Given the description of an element on the screen output the (x, y) to click on. 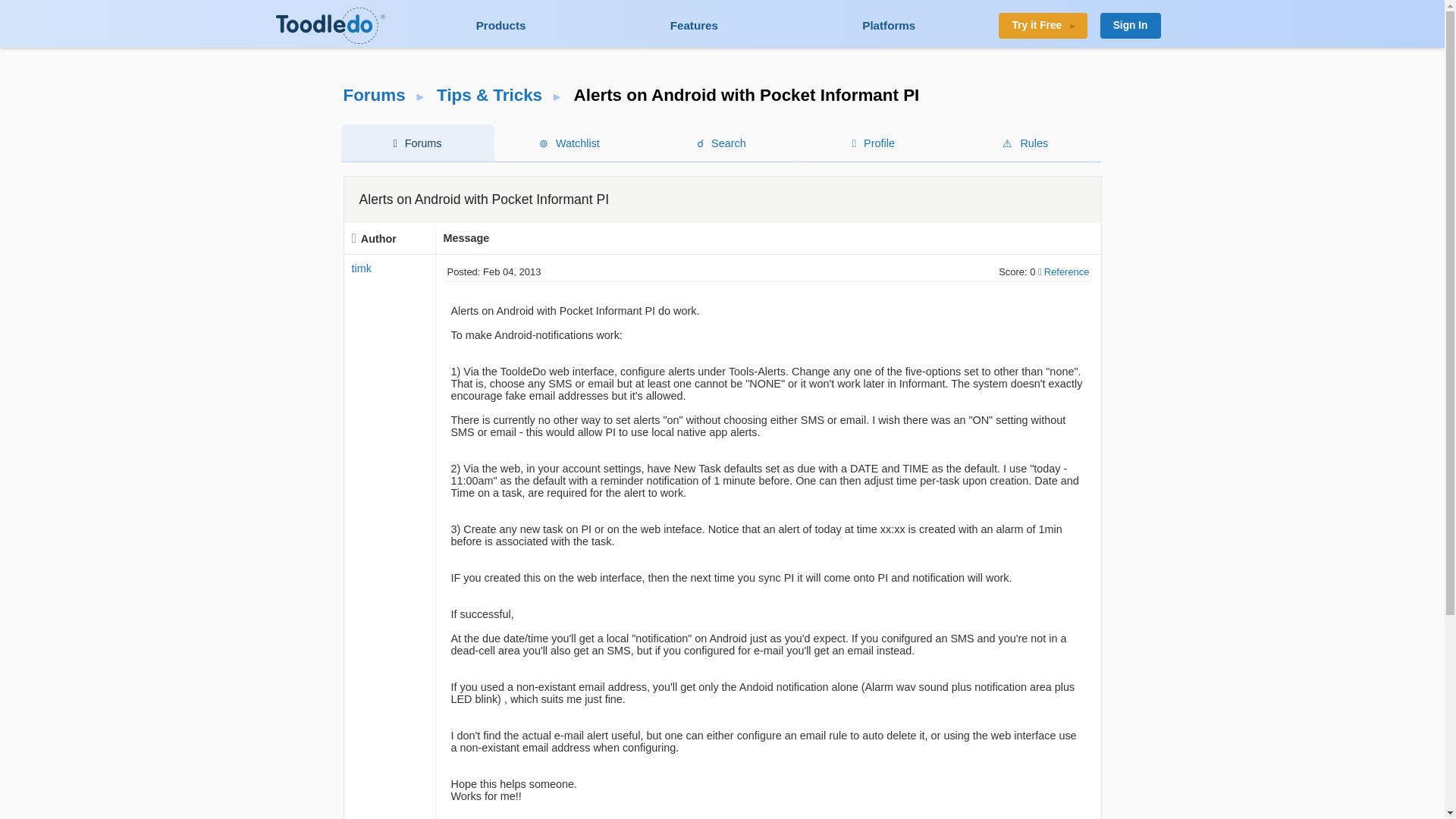
Forums (373, 94)
Forums (416, 142)
Profile (873, 142)
Watchlist (569, 142)
Try it Free (1042, 25)
timk (361, 268)
Features (694, 25)
Platforms (888, 25)
Sign In (1130, 25)
Rules (1024, 142)
Search (721, 142)
Products (499, 25)
Reference (1063, 271)
